Given the description of an element on the screen output the (x, y) to click on. 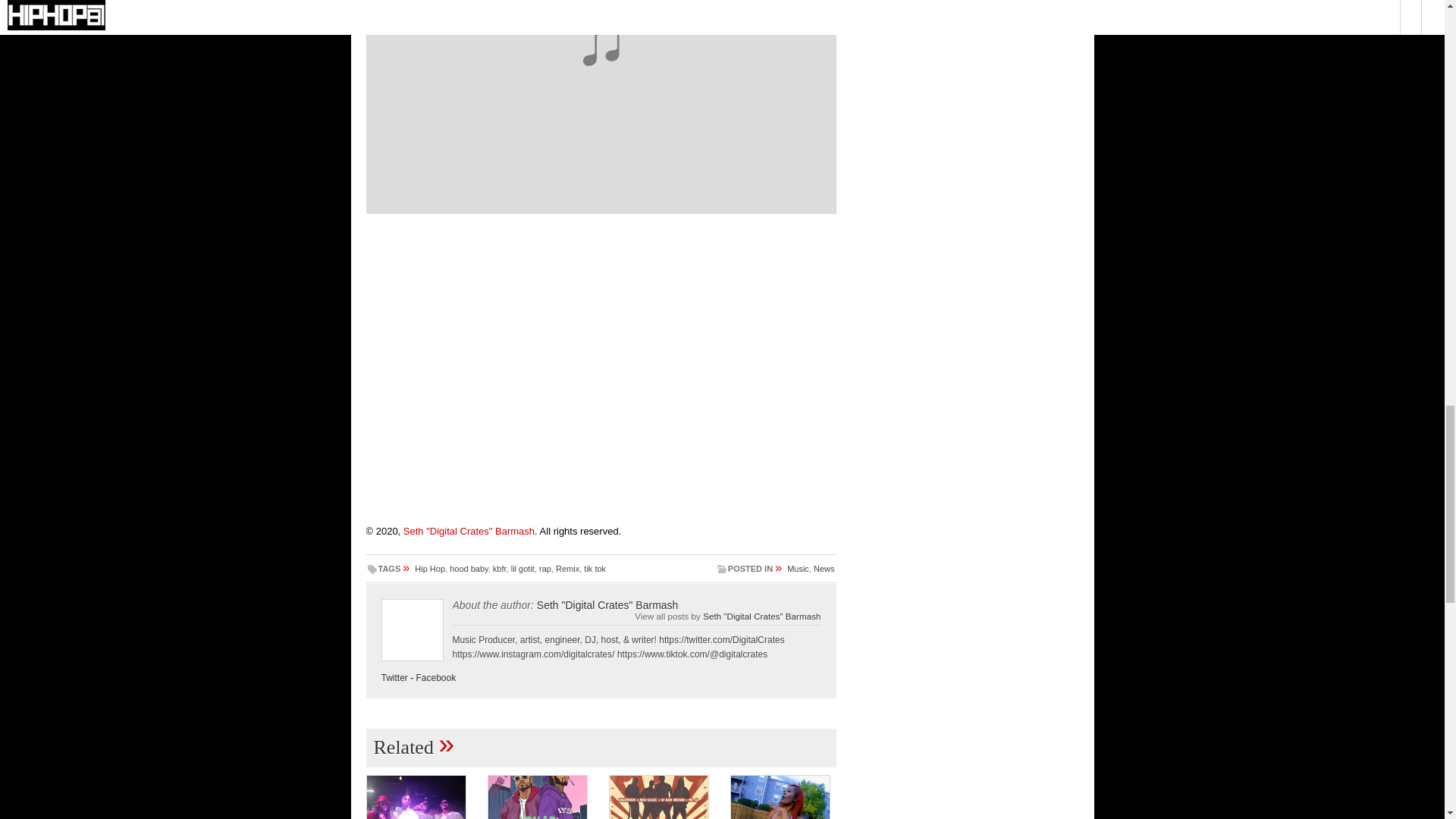
Posts by Seth "Digital Crates" Barmash (762, 615)
kbfr (499, 568)
Twitter (393, 677)
lil gotit (522, 568)
hood baby (468, 568)
Seth "Digital Crates" Barmash (607, 604)
Posts by Seth "Digital Crates" Barmash (607, 604)
Posts by Seth "Digital Crates" Barmash (468, 531)
Seth "Digital Crates" Barmash (468, 531)
Hip Hop (429, 568)
Remix (567, 568)
Music (798, 568)
News (823, 568)
Facebook (436, 677)
rap (544, 568)
